Given the description of an element on the screen output the (x, y) to click on. 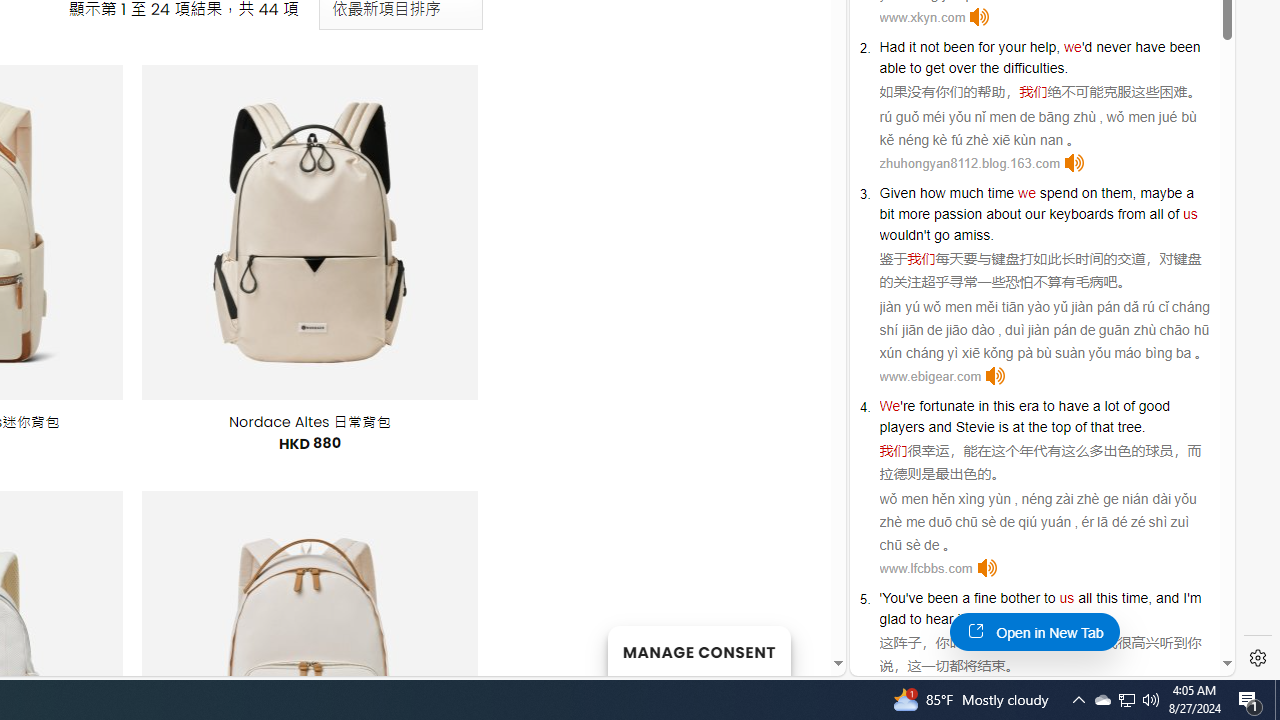
players (902, 426)
' (881, 597)
is (1003, 426)
maybe (1161, 192)
, (1150, 597)
time (1000, 192)
more (914, 213)
about (1003, 213)
Given (897, 192)
